Given the description of an element on the screen output the (x, y) to click on. 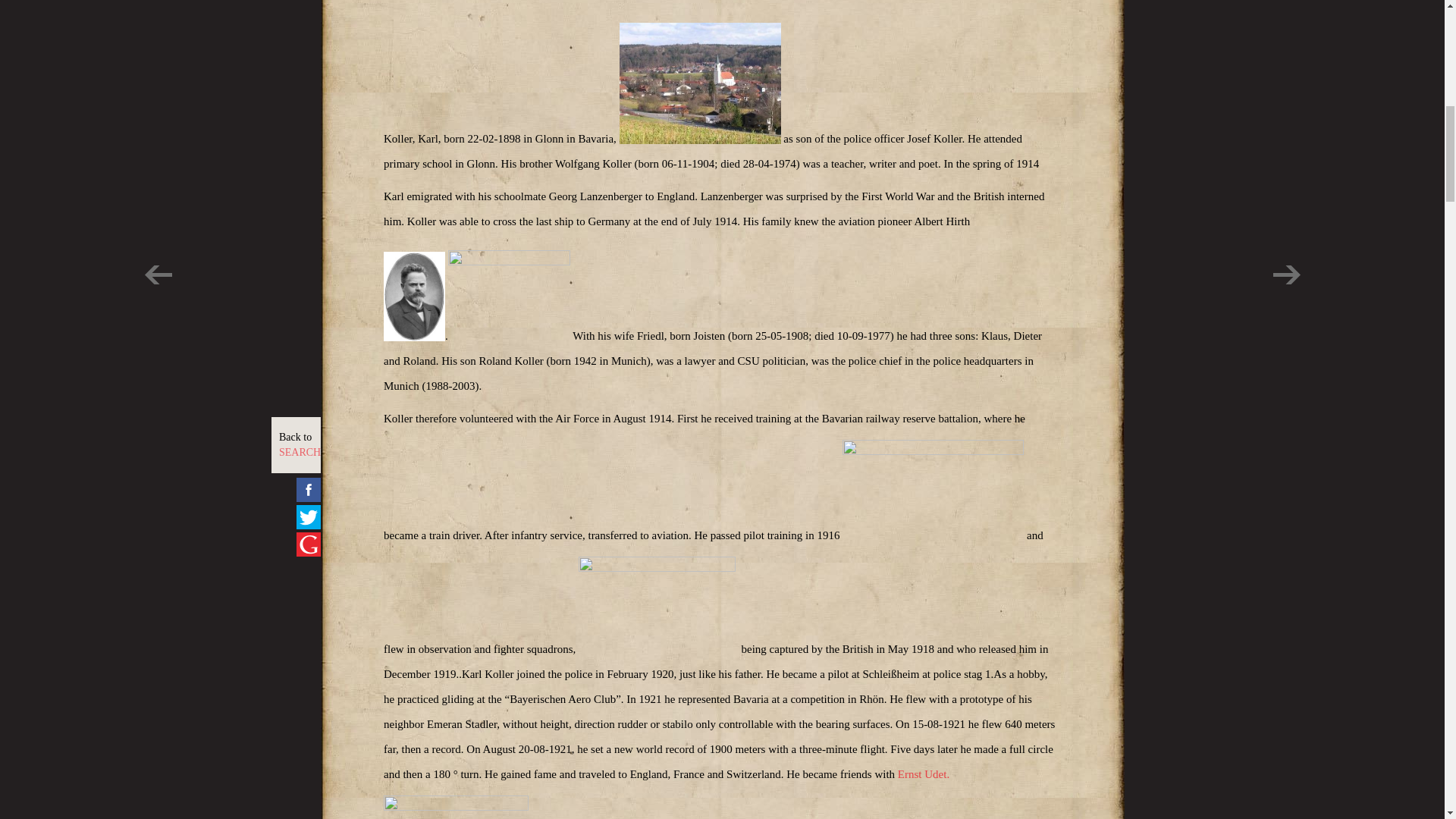
Ernst Udet. (923, 774)
